Given the description of an element on the screen output the (x, y) to click on. 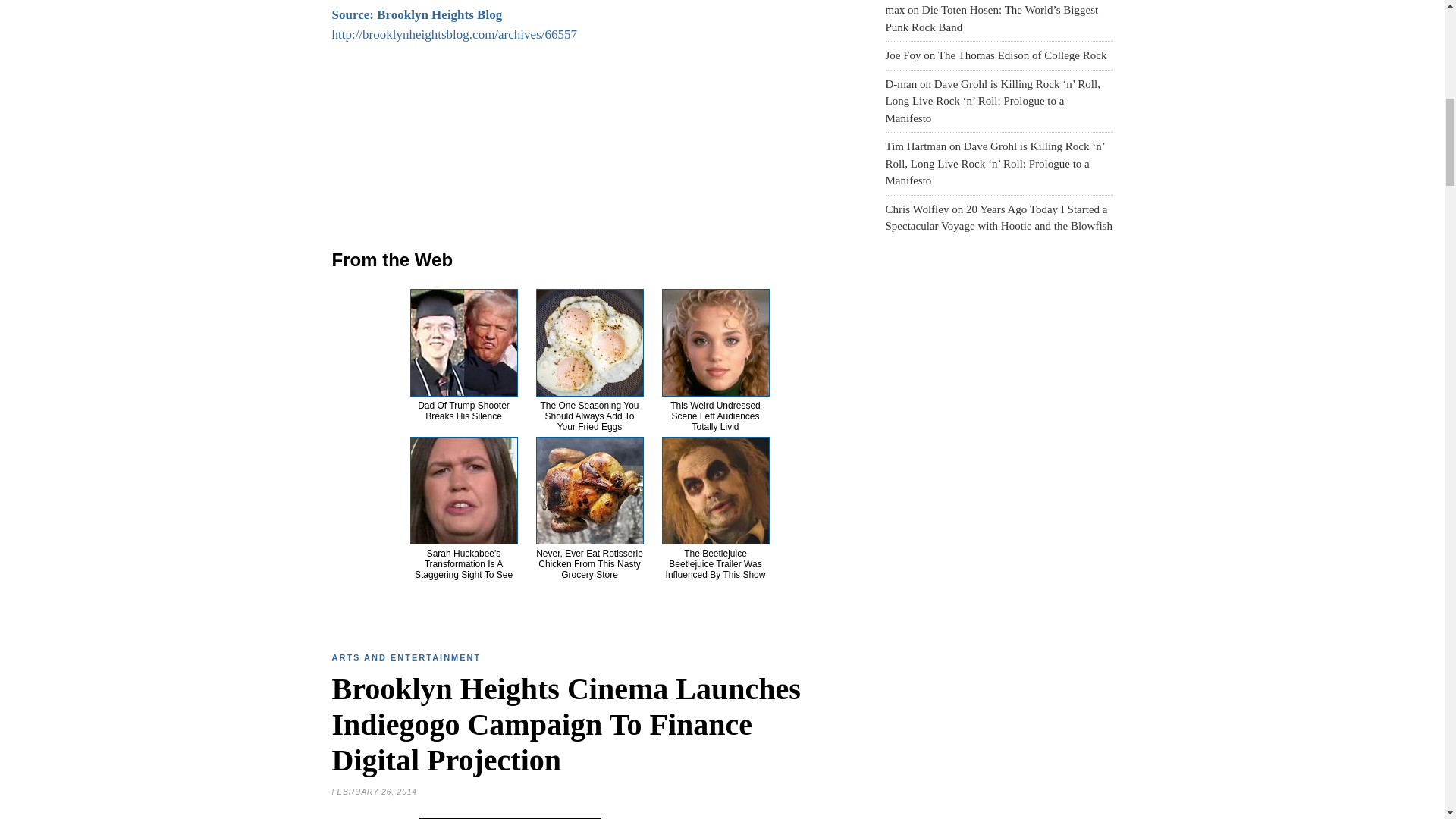
The One Seasoning You Should Always Add To Your Fried Eggs (589, 416)
Dad Of Trump Shooter Breaks His Silence (463, 410)
Source: Brooklyn Heights Blog (416, 14)
View all posts in Arts and Entertainment (406, 656)
ARTS AND ENTERTAINMENT (406, 656)
This Weird Undressed Scene Left Audiences Totally Livid (714, 416)
Sarah Huckabee's Transformation Is A Staggering Sight To See (463, 563)
